Given the description of an element on the screen output the (x, y) to click on. 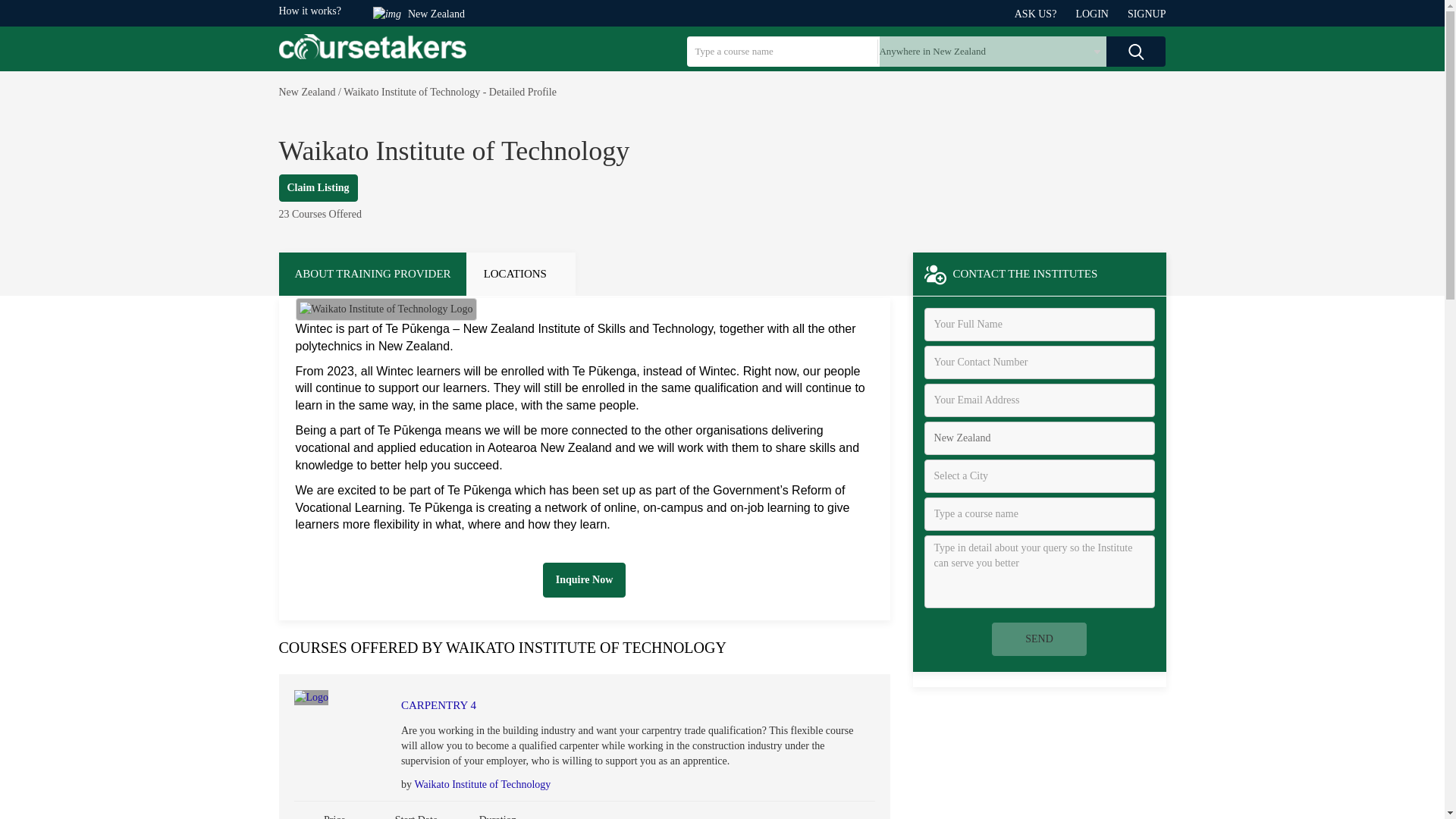
Claim Listing (318, 187)
New Zealand (1039, 438)
New Zealand (307, 91)
ABOUT TRAINING PROVIDER (372, 273)
New Zealand (426, 14)
Send (1039, 638)
Inquire Now (584, 579)
SIGNUP (1146, 14)
ASK US? (1044, 14)
How it works? (309, 10)
